Given the description of an element on the screen output the (x, y) to click on. 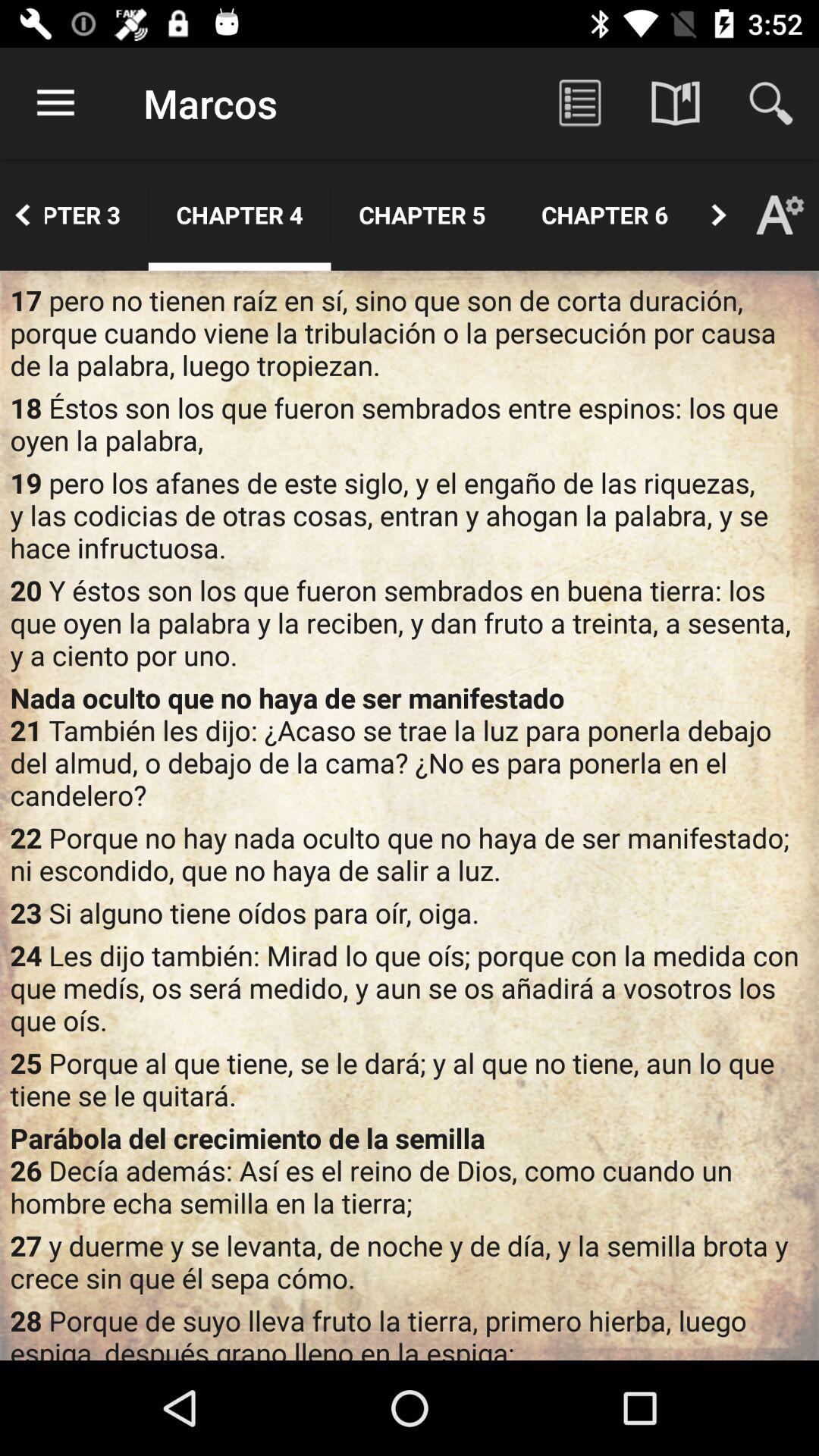
open 27 y duerme (409, 1261)
